Given the description of an element on the screen output the (x, y) to click on. 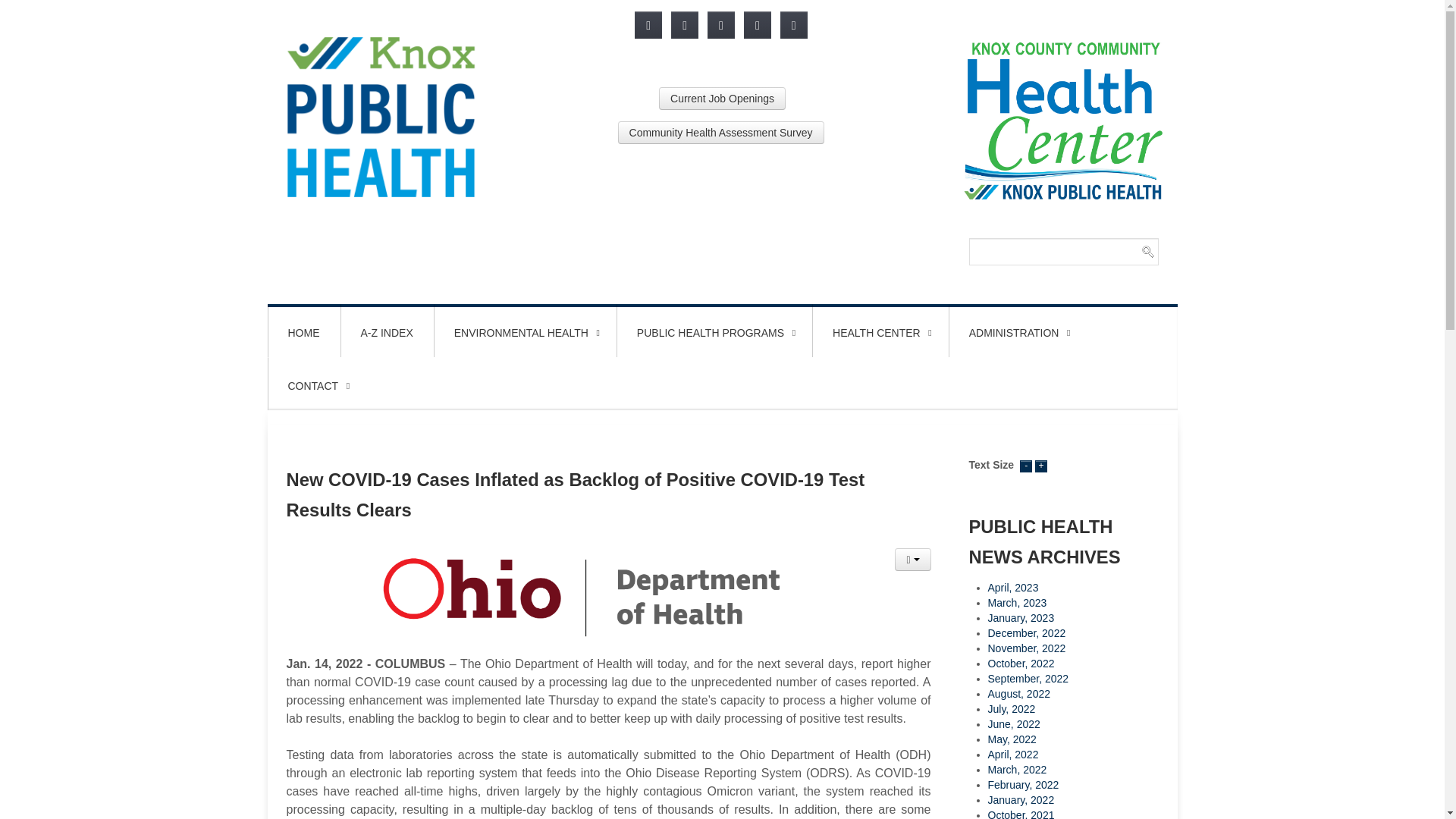
ENVIRONMENTAL HEALTH (524, 332)
Community Health Assessment Survey (720, 132)
HOME (303, 332)
Increase Font Size (1040, 464)
Decrease Font Size (1026, 464)
Current Job Openings (722, 97)
A-Z INDEX (386, 332)
PUBLIC HEALTH PROGRAMS (713, 332)
